Given the description of an element on the screen output the (x, y) to click on. 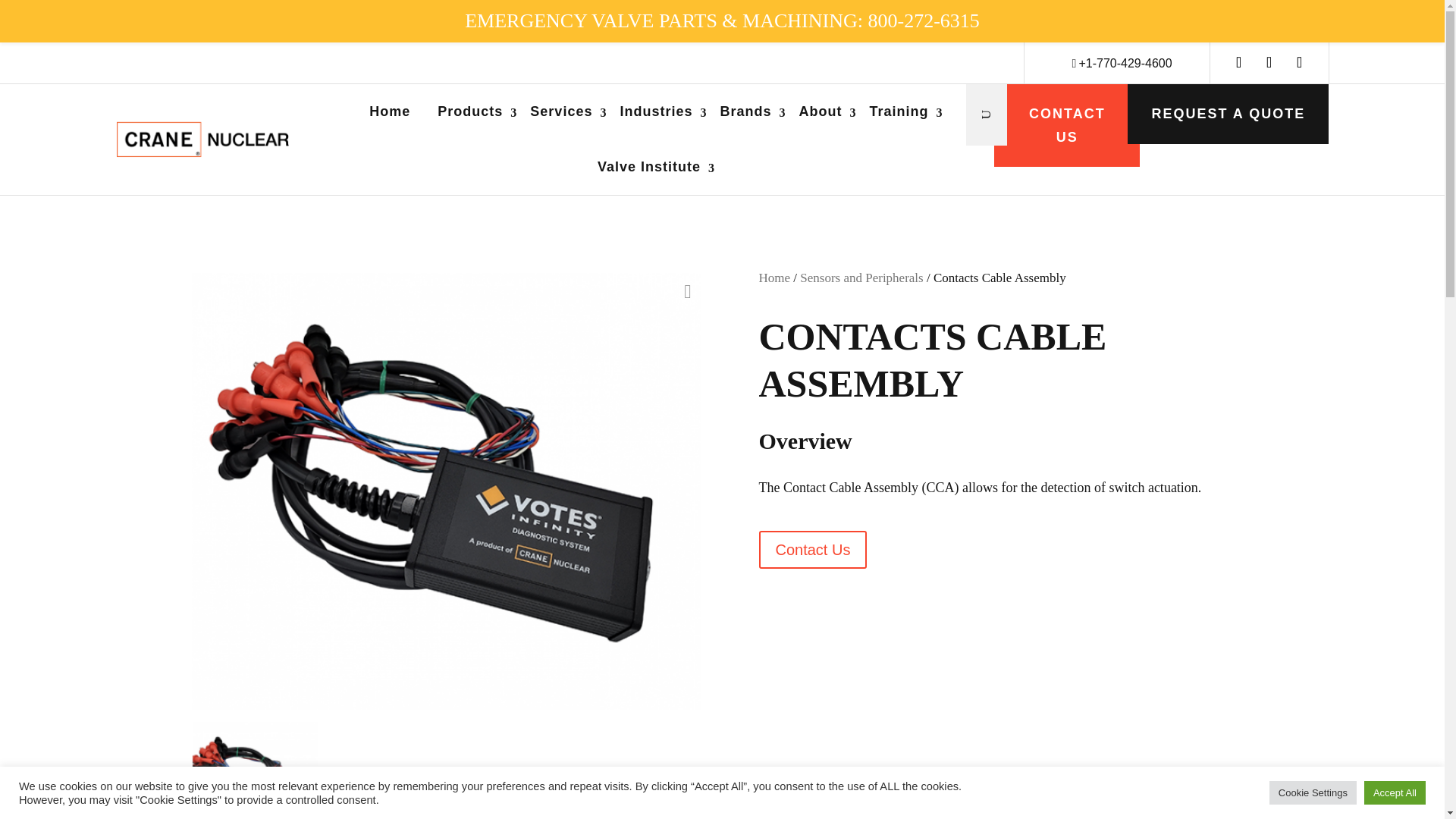
Follow on Facebook (1299, 61)
Follow on Youtube (1268, 61)
Follow on LinkedIn (1238, 61)
Services (560, 111)
Products (470, 111)
Brands (745, 111)
Industries (656, 111)
Home (389, 111)
